Given the description of an element on the screen output the (x, y) to click on. 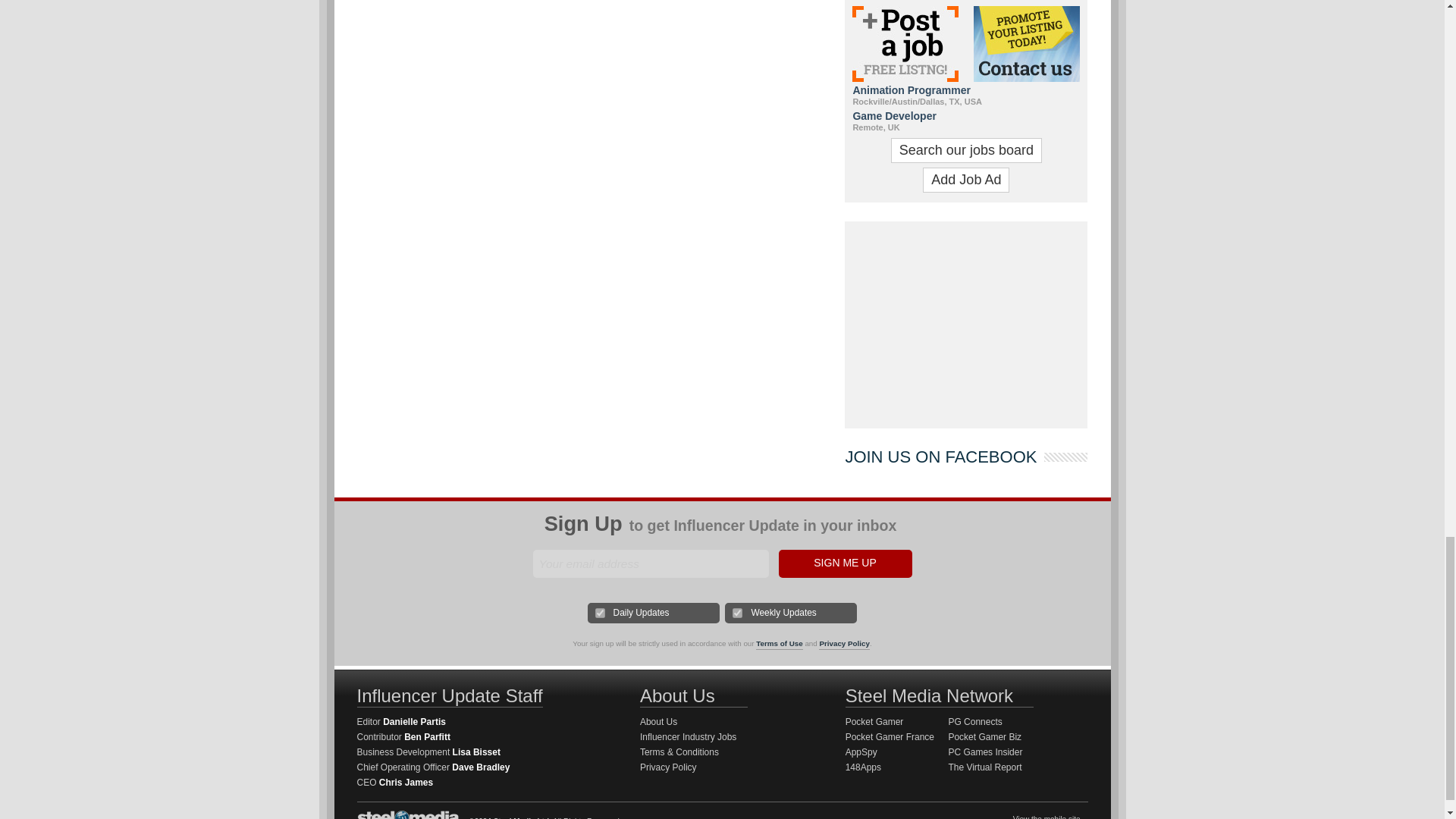
2 (737, 613)
SIGN ME UP (844, 563)
1 (600, 613)
